Given the description of an element on the screen output the (x, y) to click on. 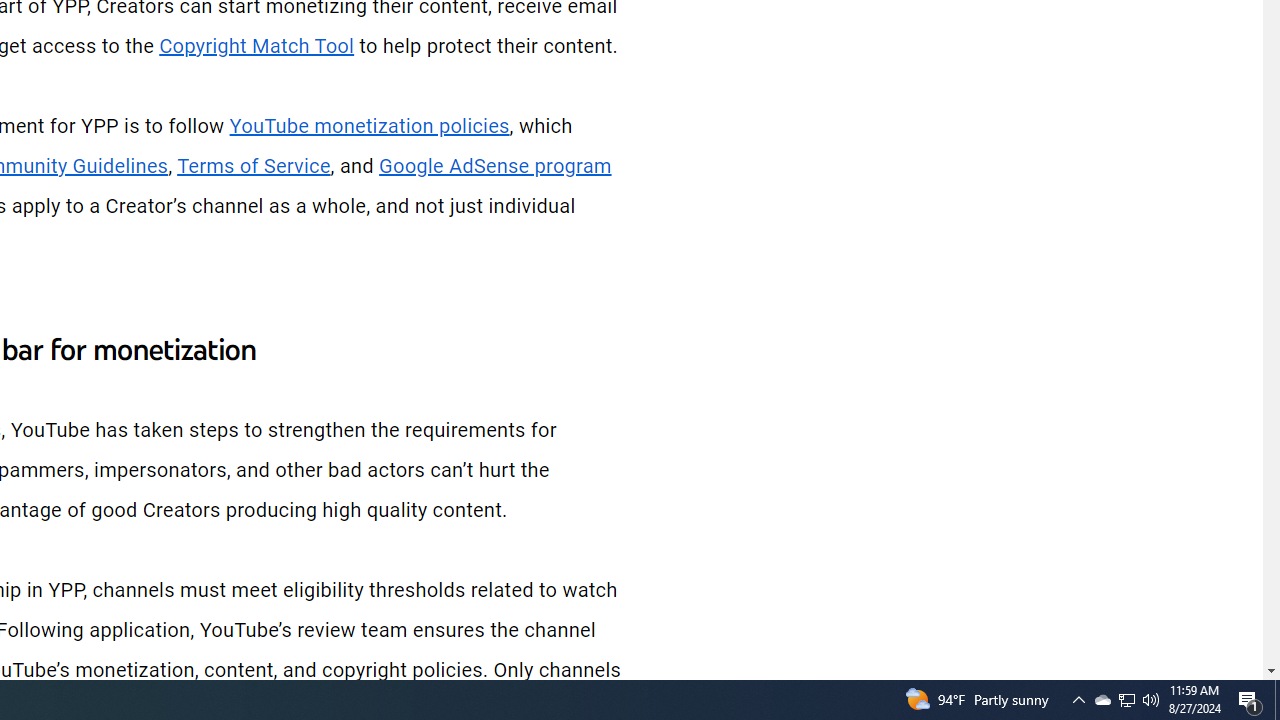
YouTube monetization policies (369, 125)
Copyright Match Tool (256, 45)
